Given the description of an element on the screen output the (x, y) to click on. 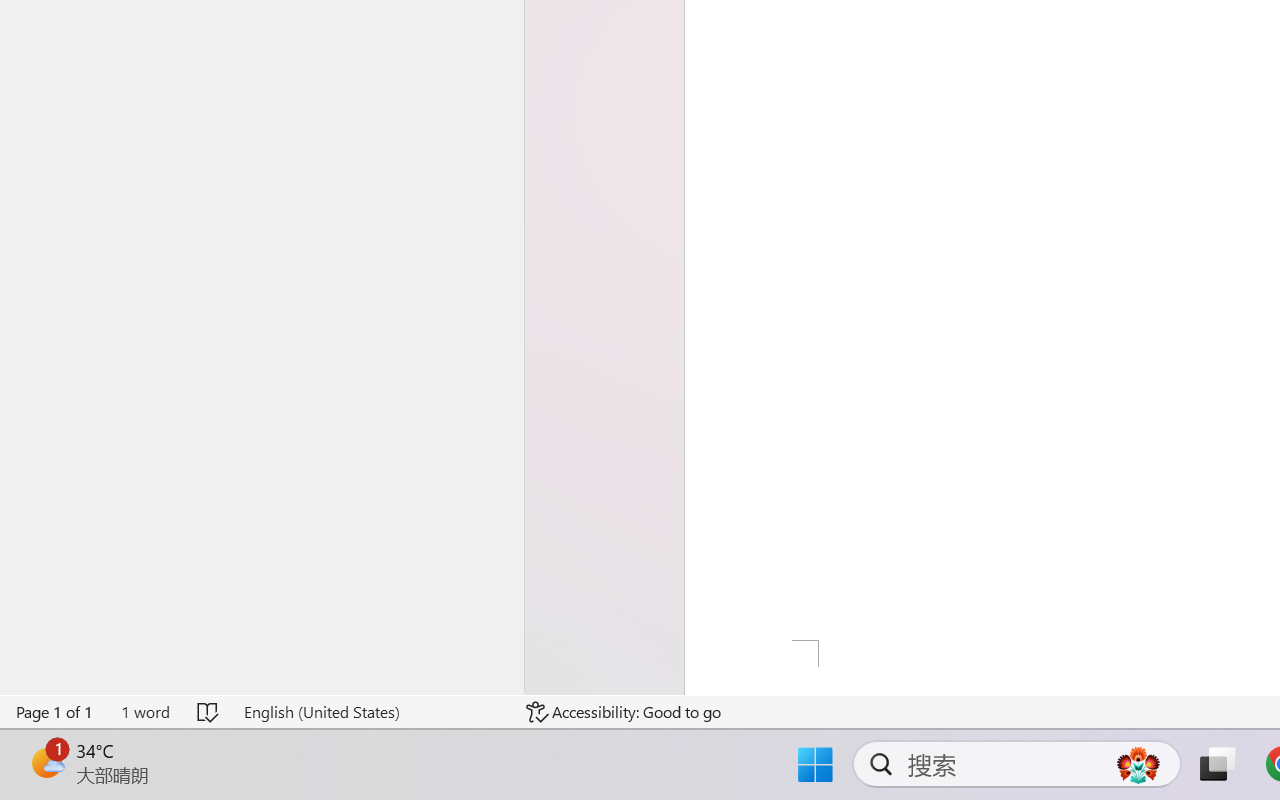
AutomationID: BadgeAnchorLargeTicker (46, 762)
Accessibility Checker Accessibility: Good to go (623, 712)
Language English (United States) (370, 712)
AutomationID: DynamicSearchBoxGleamImage (1138, 764)
Spelling and Grammar Check No Errors (208, 712)
Page Number Page 1 of 1 (55, 712)
Word Count 1 word (145, 712)
